Given the description of an element on the screen output the (x, y) to click on. 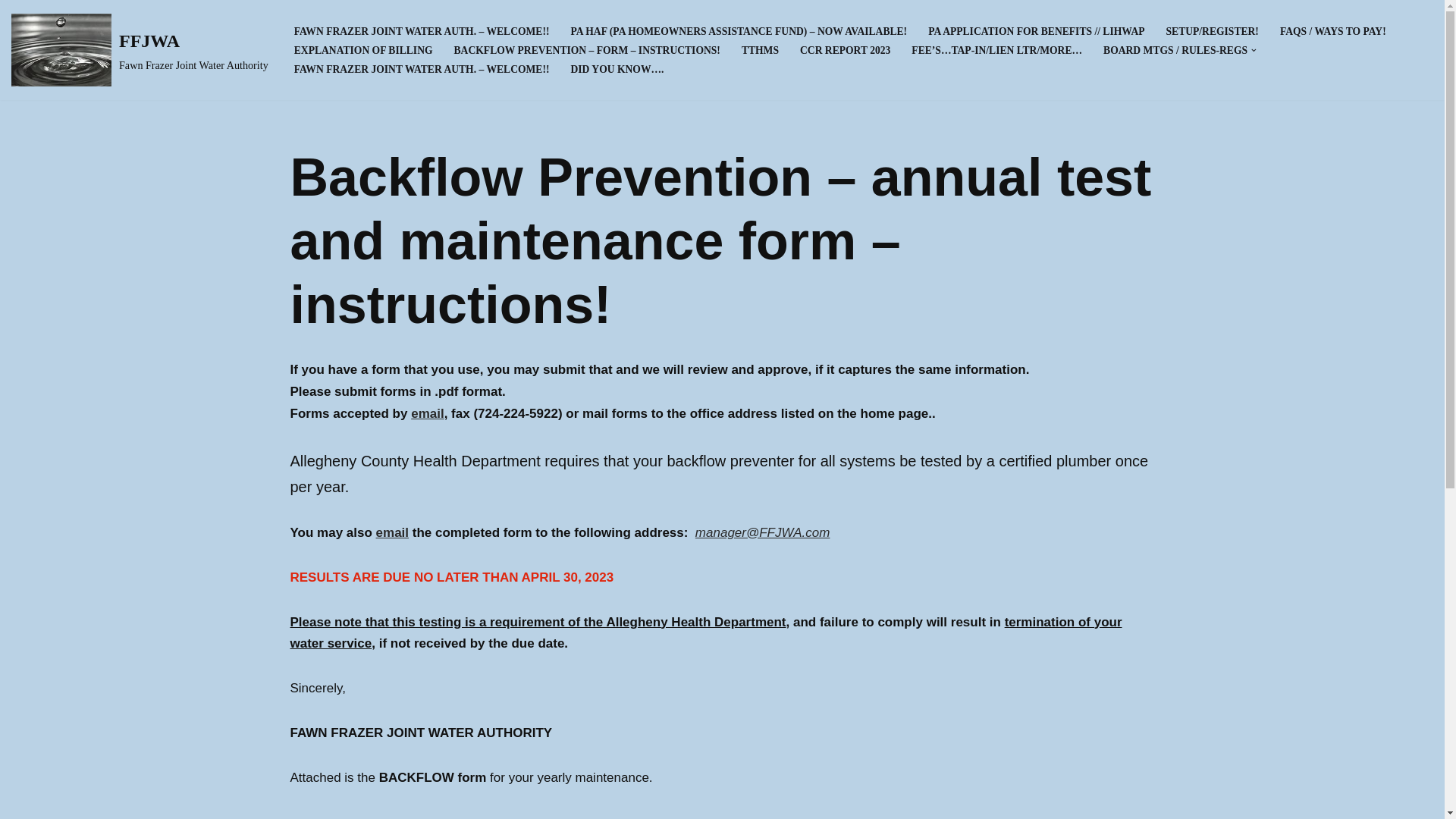
email (427, 413)
email (392, 532)
CCR REPORT 2023 (844, 49)
Skip to content (11, 31)
EXPLANATION OF BILLING (363, 49)
TTHMS (759, 49)
